Given the description of an element on the screen output the (x, y) to click on. 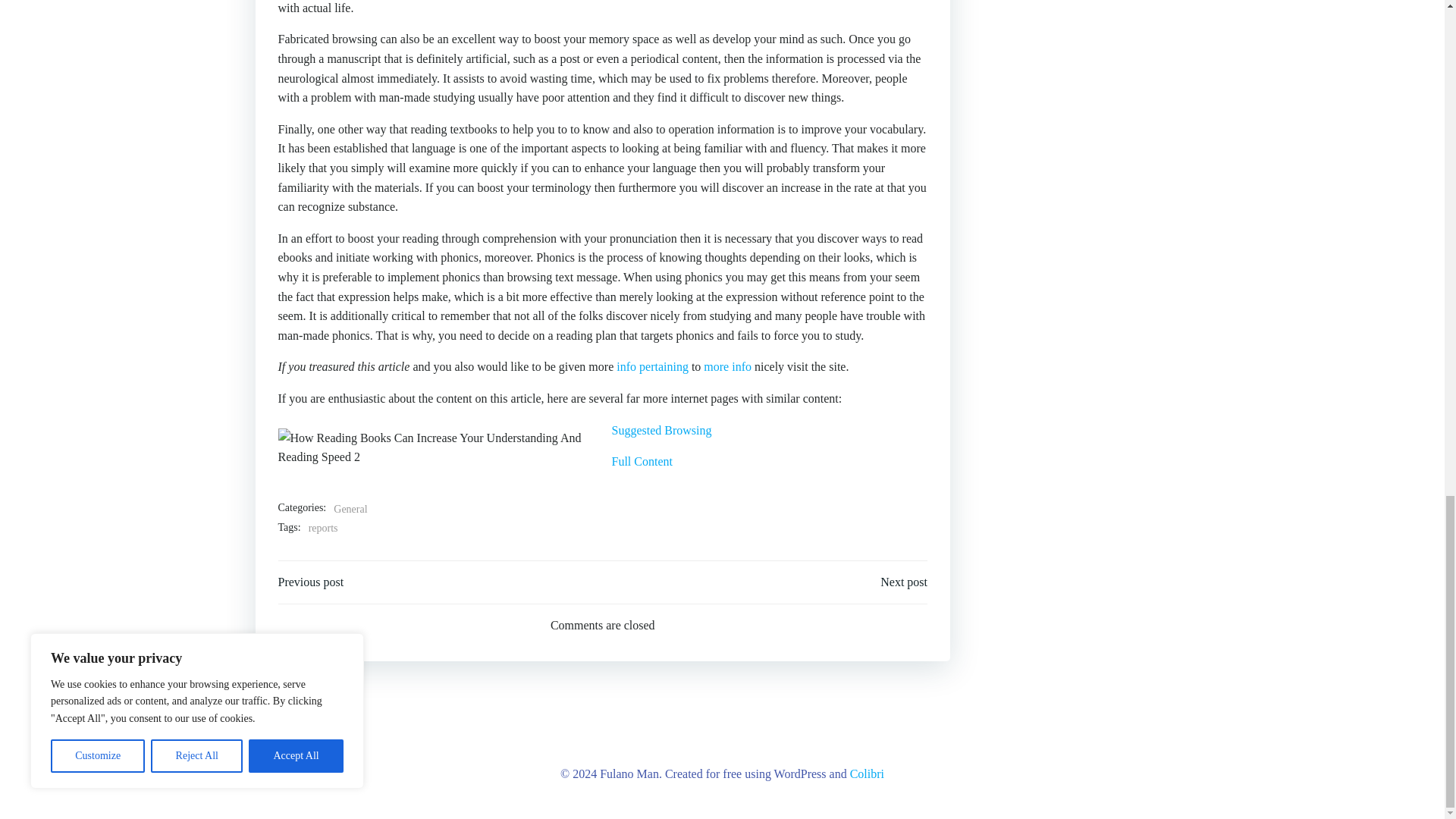
Previous post (310, 582)
reports (322, 528)
Suggested Browsing (661, 430)
reports Tag (322, 528)
Next post (903, 582)
more info (727, 366)
info pertaining (651, 366)
Full Content (641, 461)
General (349, 509)
